Given the description of an element on the screen output the (x, y) to click on. 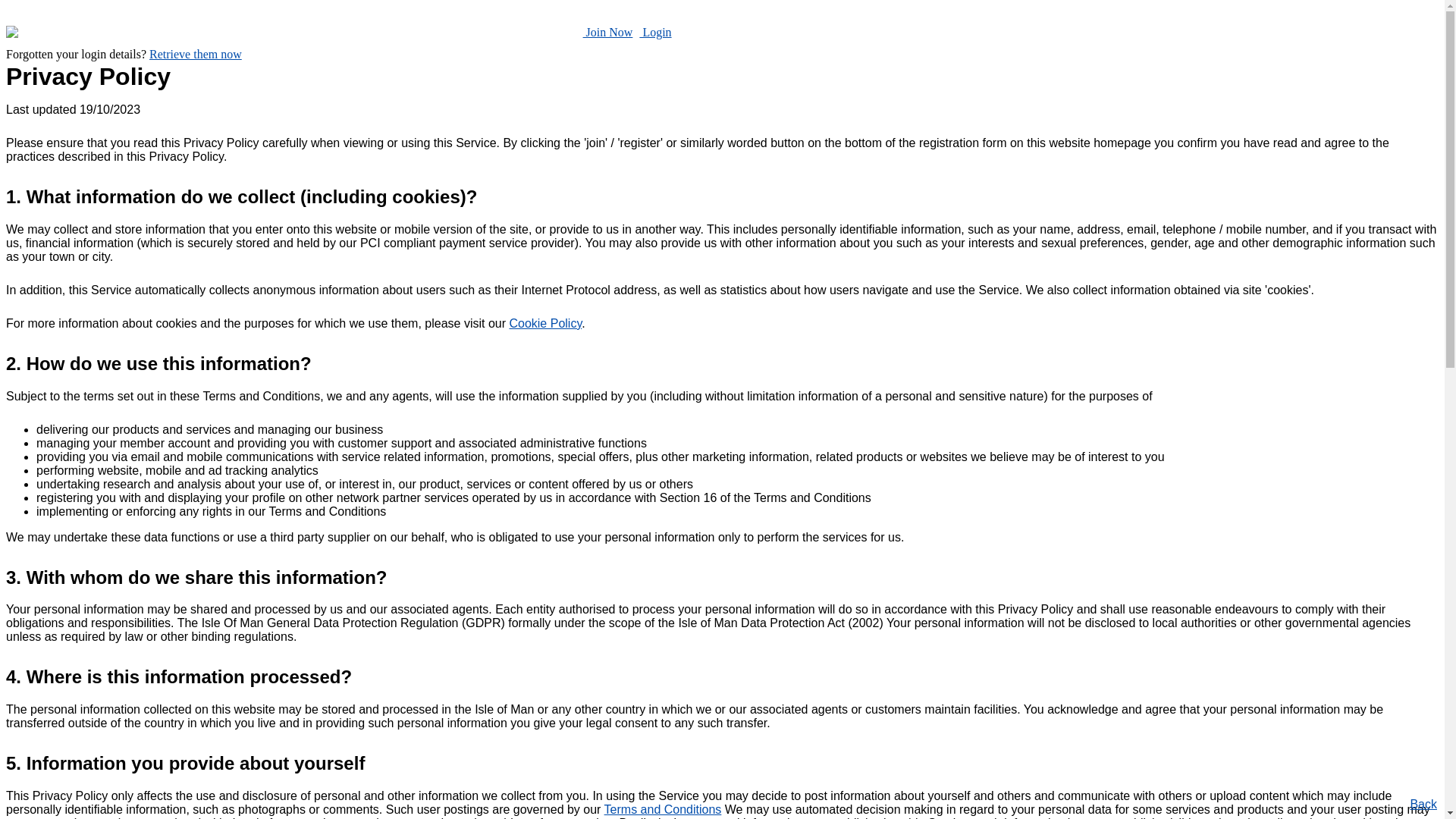
 Join Now Element type: text (608, 31)
Terms and Conditions Element type: text (662, 809)
Cookie Policy Element type: text (544, 322)
Retrieve them now Element type: text (195, 53)
 Login Element type: text (655, 31)
Back Element type: text (1423, 803)
